Given the description of an element on the screen output the (x, y) to click on. 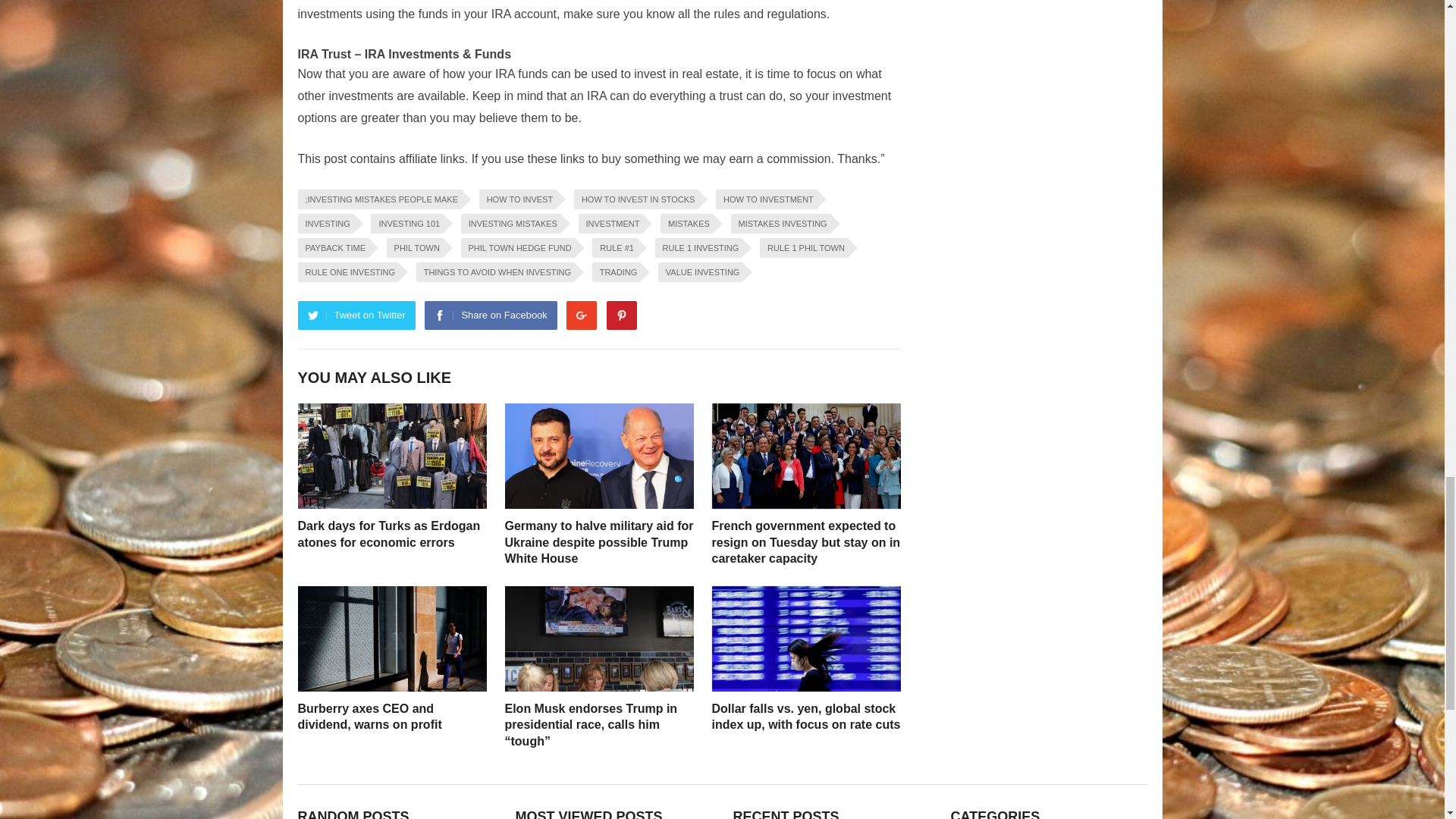
HOW TO INVESTMENT (766, 199)
;INVESTING MISTAKES PEOPLE MAKE (379, 199)
HOW TO INVEST IN STOCKS (635, 199)
HOW TO INVEST (517, 199)
INVESTING (324, 223)
